Given the description of an element on the screen output the (x, y) to click on. 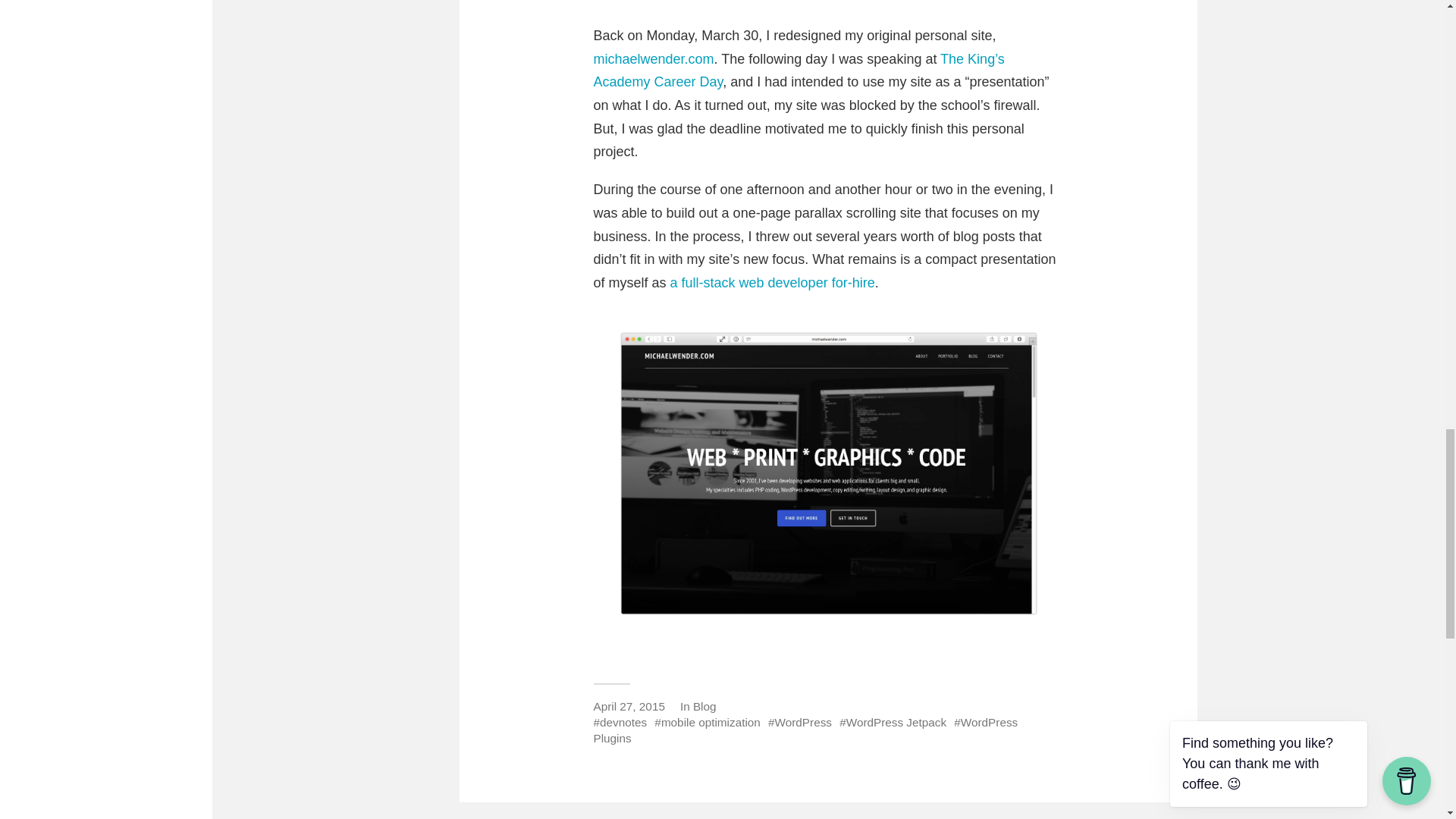
mobile optimization (706, 721)
a full-stack web developer for-hire (772, 282)
michaelwender.com (652, 58)
devnotes (619, 721)
WordPress (799, 721)
Blog (704, 706)
WordPress Plugins (804, 729)
April 27, 2015 (627, 706)
WordPress Jetpack (893, 721)
